Given the description of an element on the screen output the (x, y) to click on. 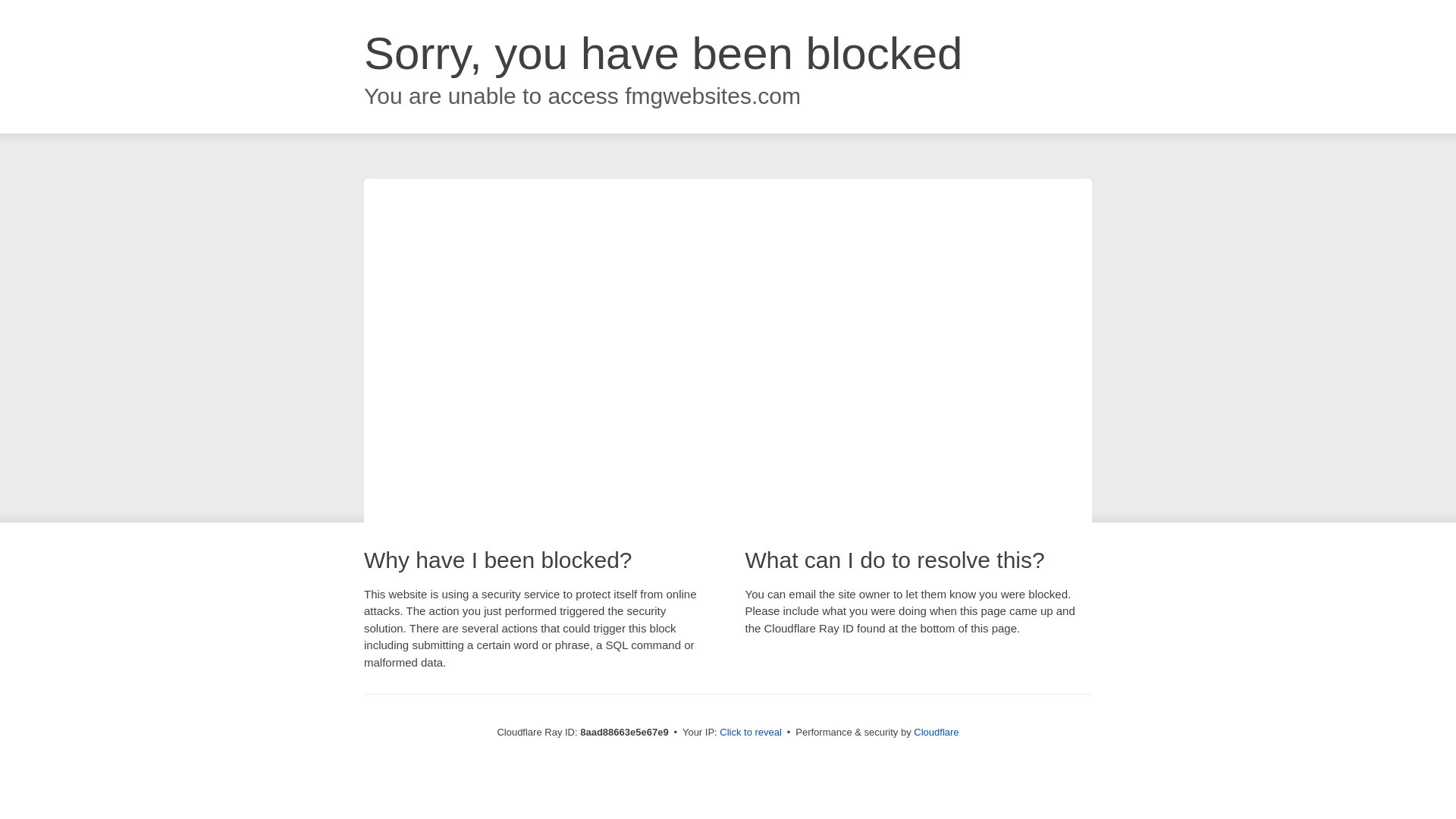
Click to reveal (750, 732)
Cloudflare (936, 731)
